Given the description of an element on the screen output the (x, y) to click on. 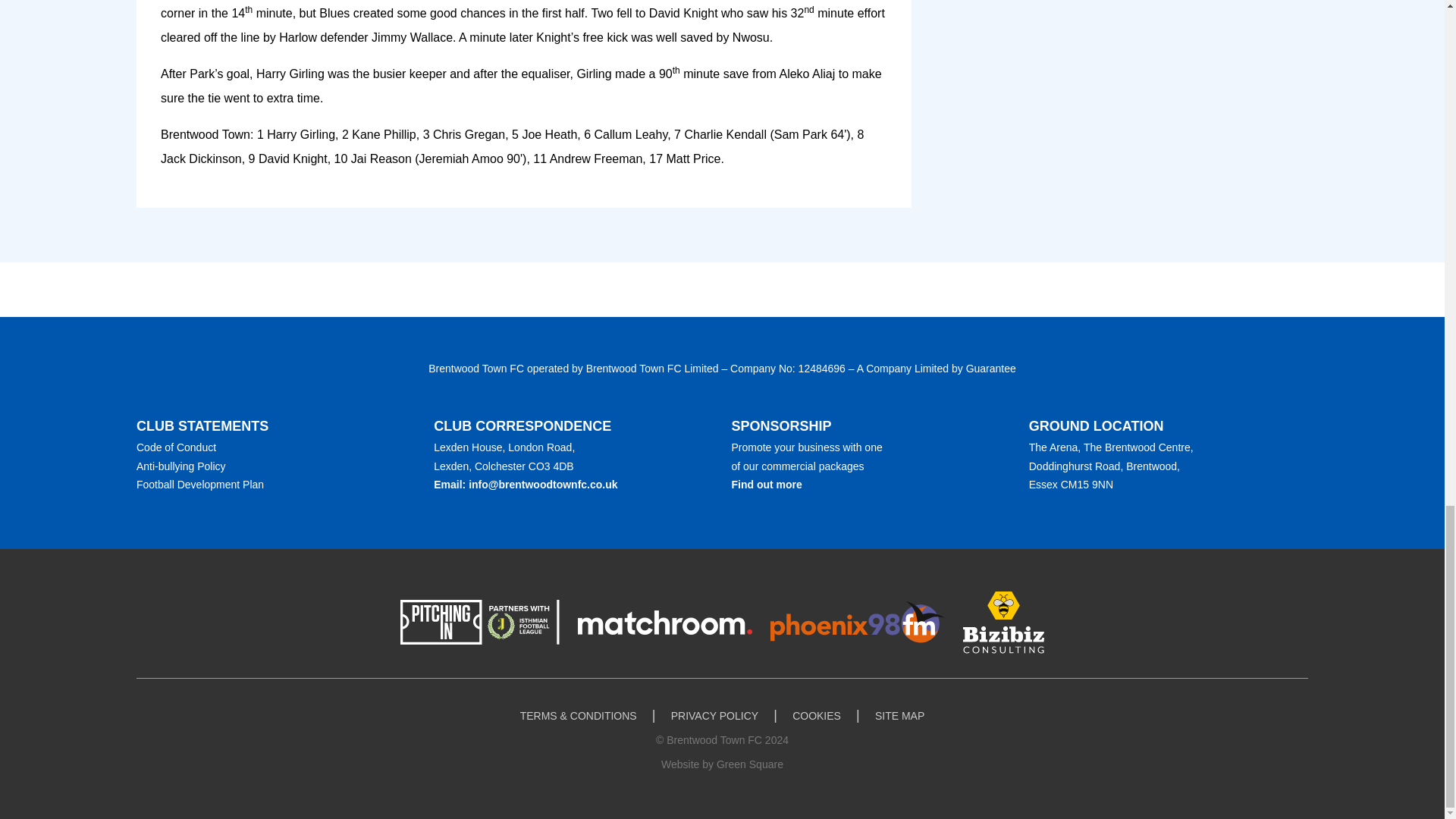
Anti-bullying Policy (180, 466)
Code of Conduct (175, 447)
COOKIES (816, 715)
SITE MAP (899, 715)
Football Development Plan (199, 484)
Find out more (766, 484)
PRIVACY POLICY (714, 715)
